Given the description of an element on the screen output the (x, y) to click on. 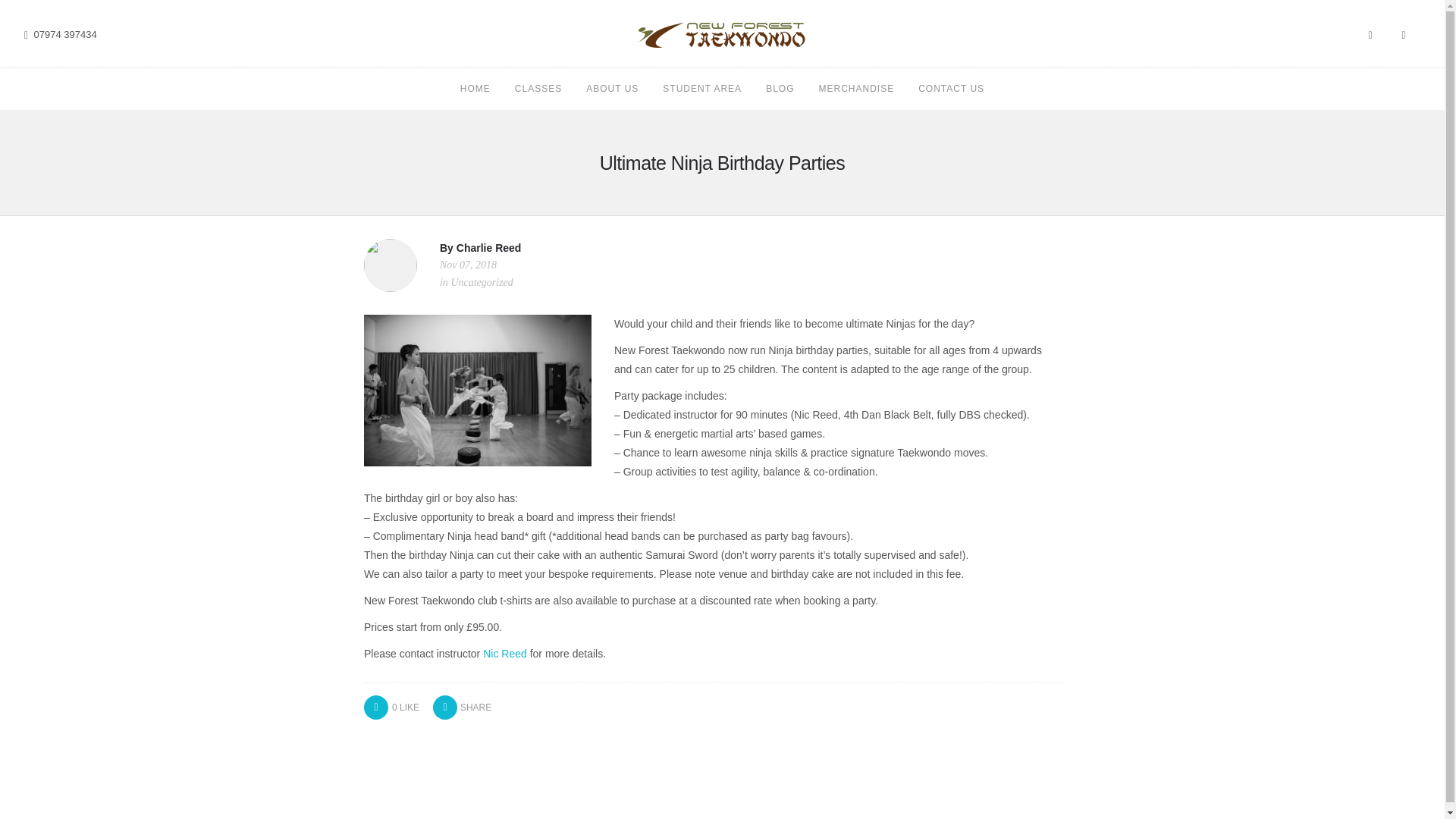
Posts by Charlie Reed (489, 247)
0 LIKE (391, 706)
MERCHANDISE (856, 88)
Charlie Reed (489, 247)
SHARE (461, 707)
Nic Reed (505, 653)
ABOUT US (612, 88)
CONTACT US (951, 88)
CLASSES (538, 88)
STUDENT AREA (701, 88)
Uncategorized (480, 282)
